Given the description of an element on the screen output the (x, y) to click on. 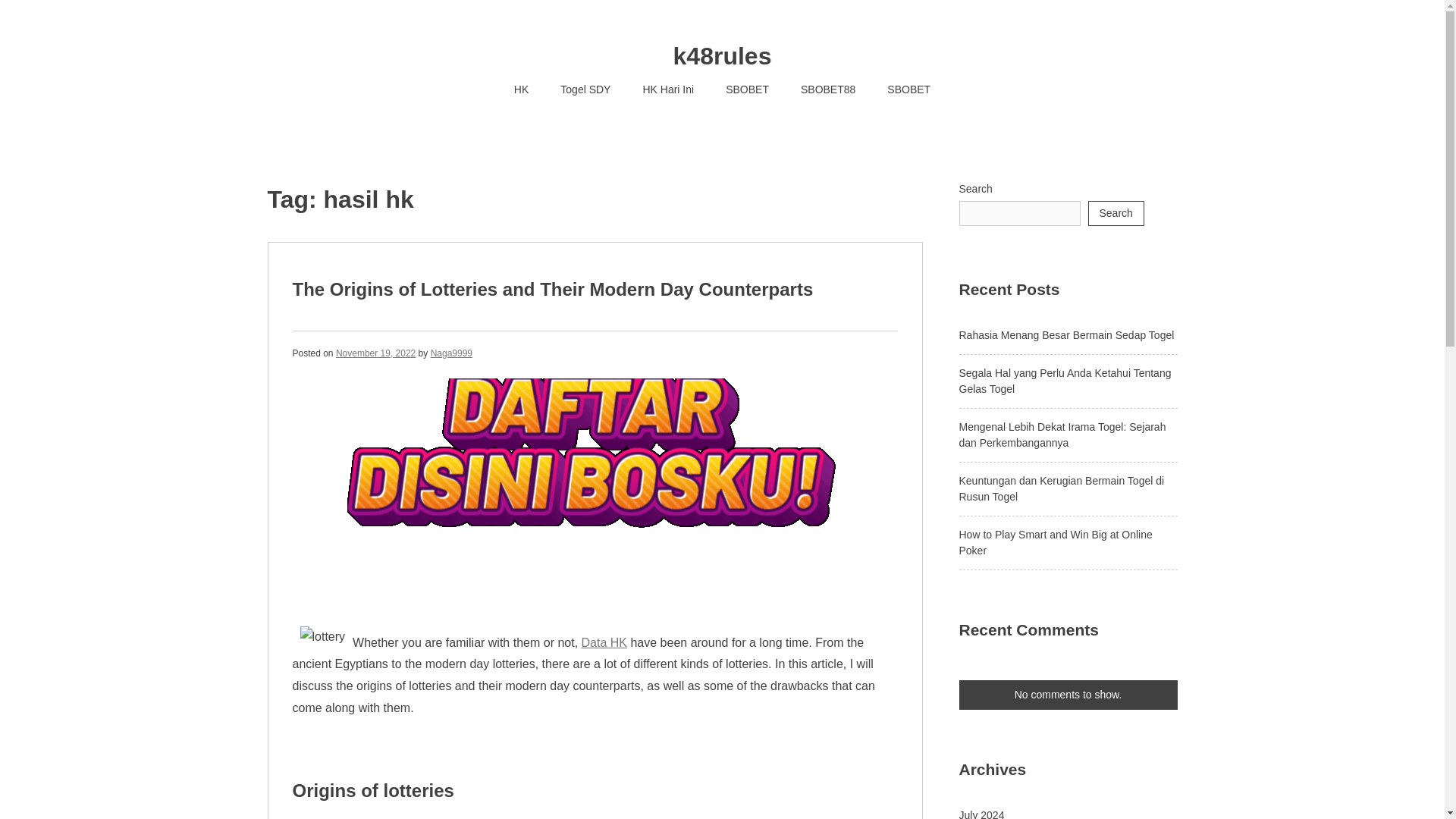
SBOBET88 (827, 89)
Togel SDY (585, 89)
SBOBET (908, 89)
The Origins of Lotteries and Their Modern Day Counterparts (552, 289)
Segala Hal yang Perlu Anda Ketahui Tentang Gelas Togel (1064, 380)
k48rules (721, 55)
SBOBET (747, 89)
How to Play Smart and Win Big at Online Poker (1054, 542)
HK (520, 89)
Rahasia Menang Besar Bermain Sedap Togel (1065, 335)
November 19, 2022 (375, 352)
Data HK (603, 641)
HK Hari Ini (668, 89)
Search (1114, 213)
